Given the description of an element on the screen output the (x, y) to click on. 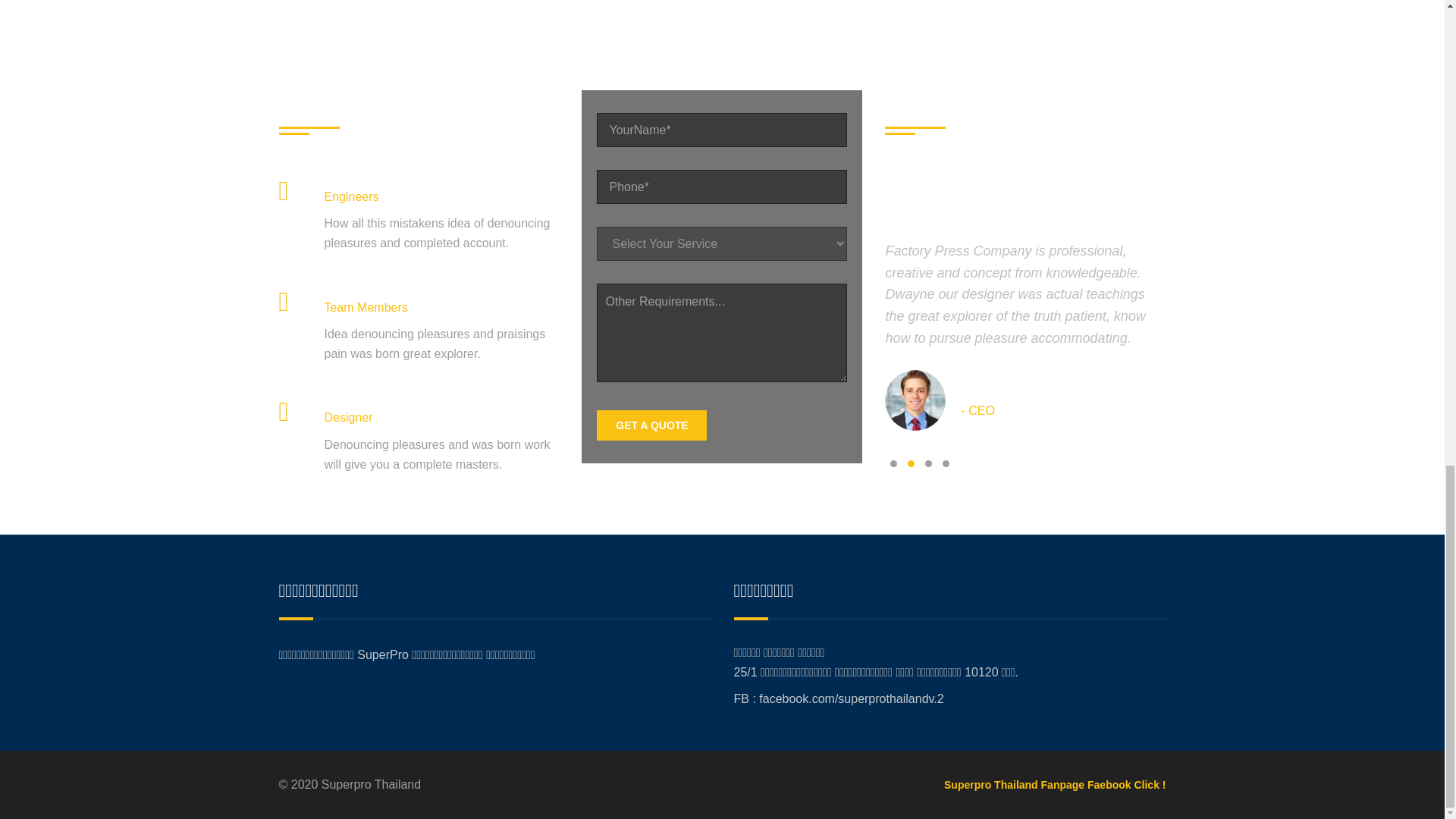
VOLVO (657, 11)
Get A Quote (651, 425)
Get A Quote (651, 425)
Superpro Thailand Fanpage Faebook Click ! (1054, 784)
